Given the description of an element on the screen output the (x, y) to click on. 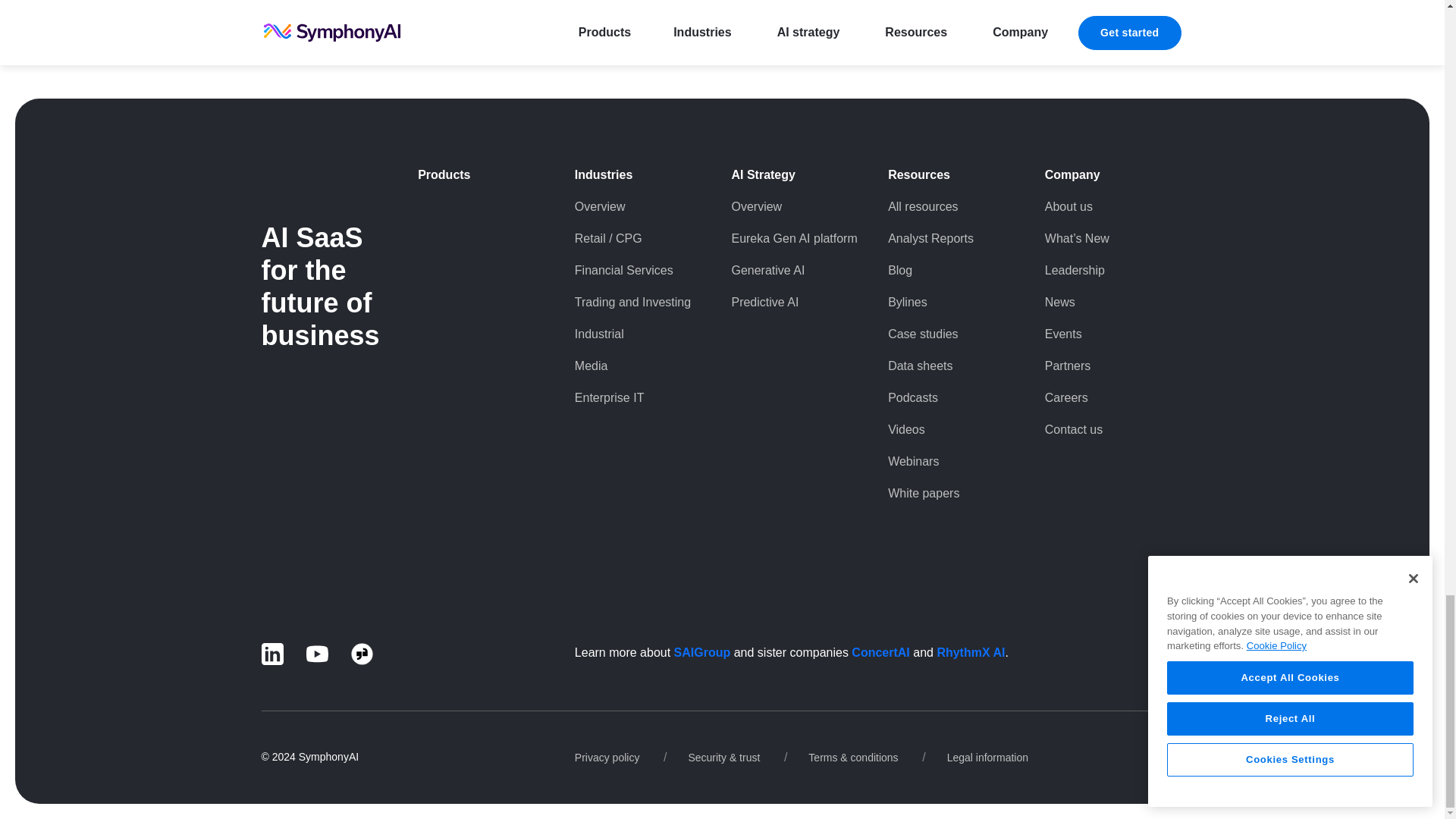
Icon Svg (317, 653)
Icon Svg (361, 653)
Icon Svg (271, 653)
